Given the description of an element on the screen output the (x, y) to click on. 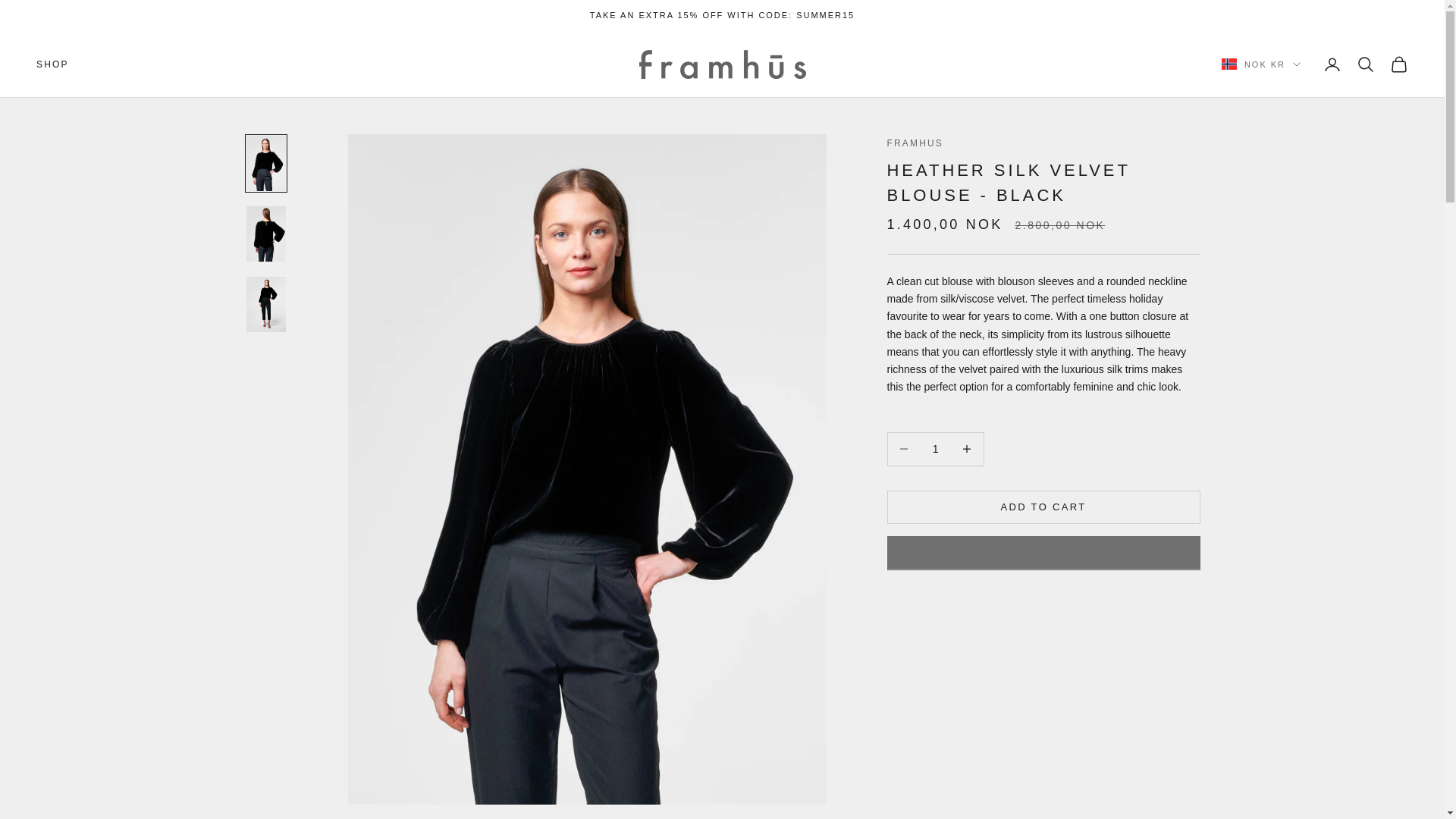
NOK KR (1260, 64)
1 (935, 448)
Framhus (722, 63)
